Given the description of an element on the screen output the (x, y) to click on. 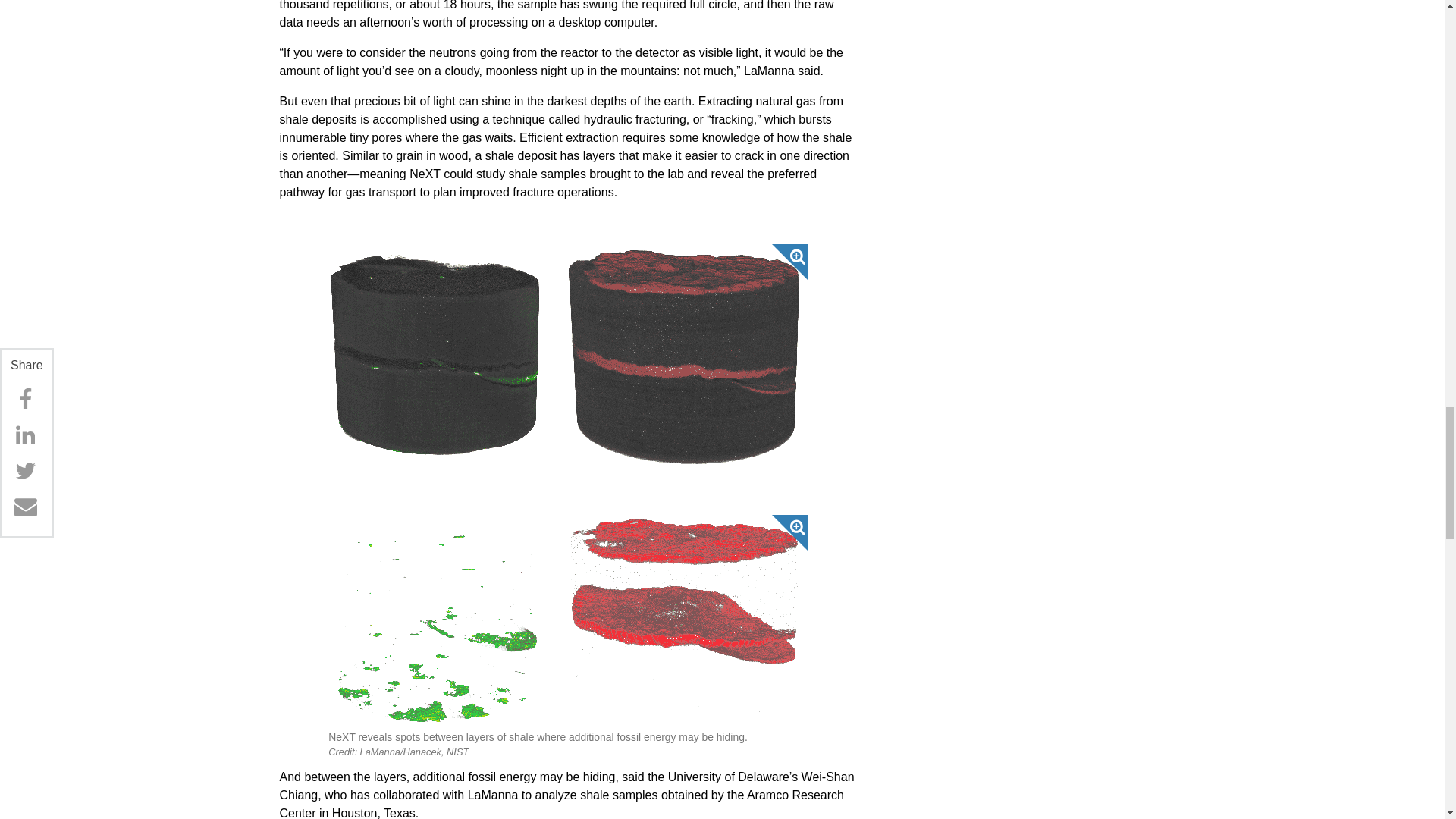
Hydrocarbons in Shale Samples (568, 621)
Hydrocarbons in Shale Samples (568, 356)
